Given the description of an element on the screen output the (x, y) to click on. 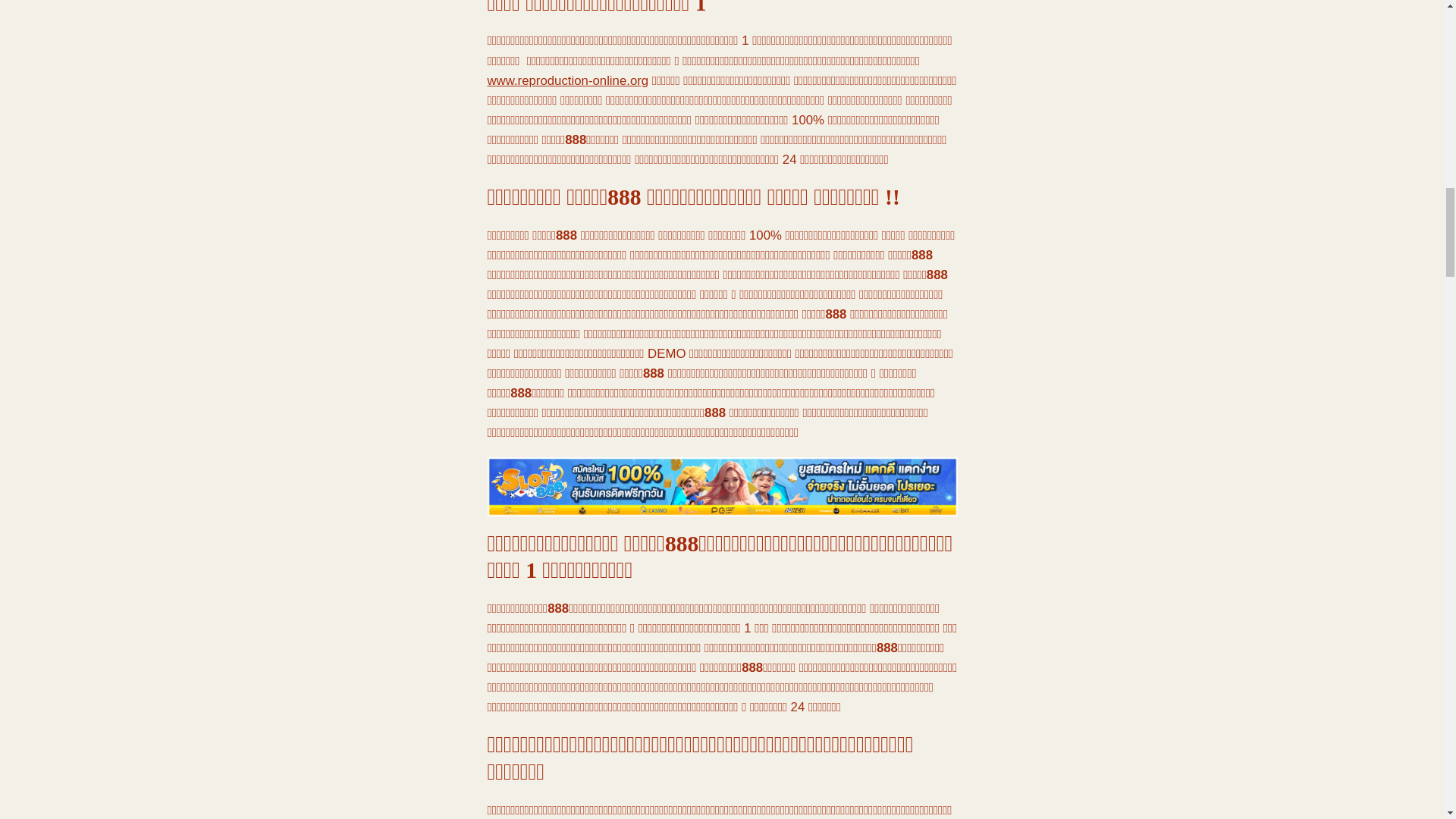
www.reproduction-online.org (566, 80)
